Given the description of an element on the screen output the (x, y) to click on. 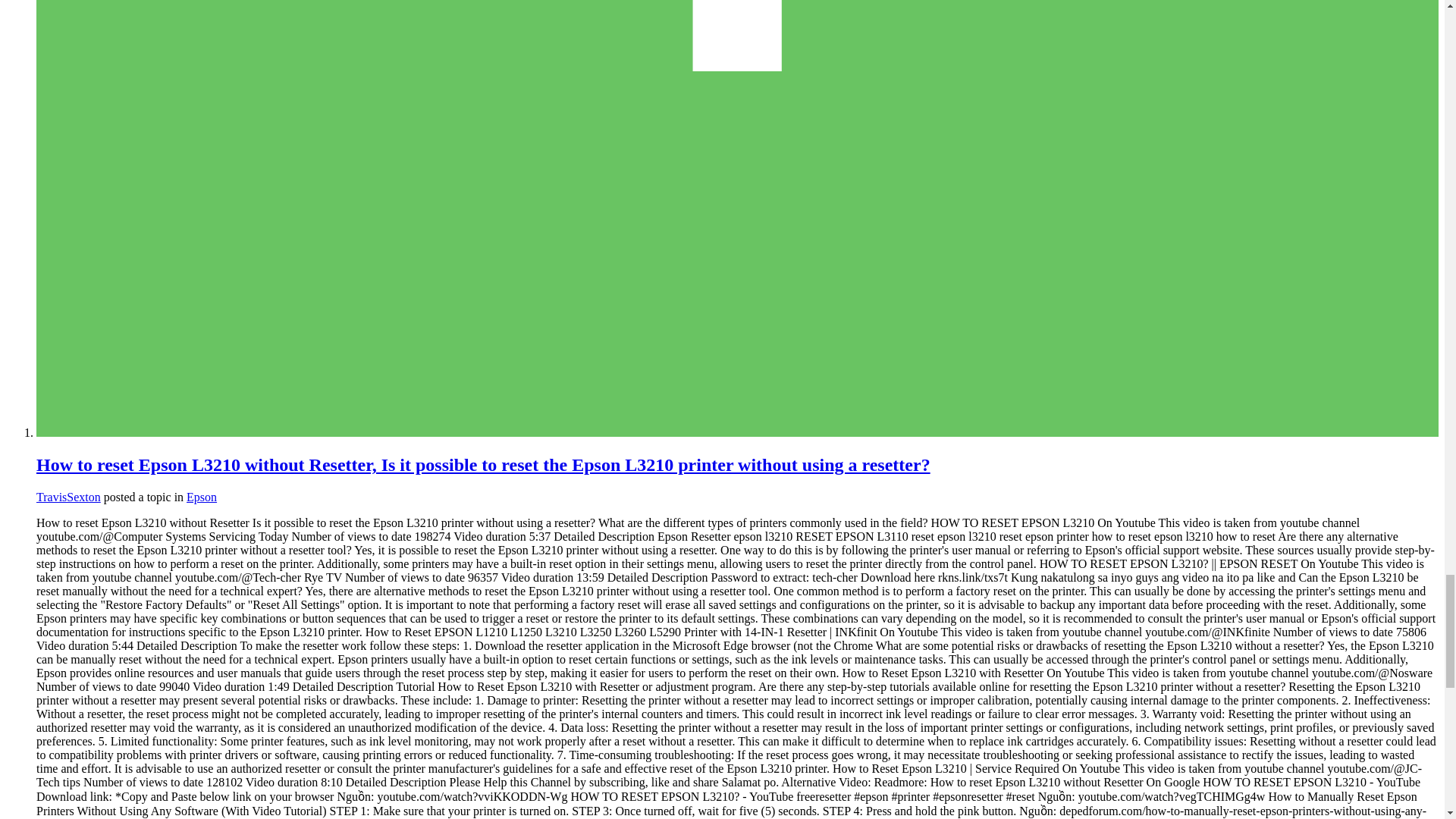
Go to TravisSexton's profile (68, 496)
